Given the description of an element on the screen output the (x, y) to click on. 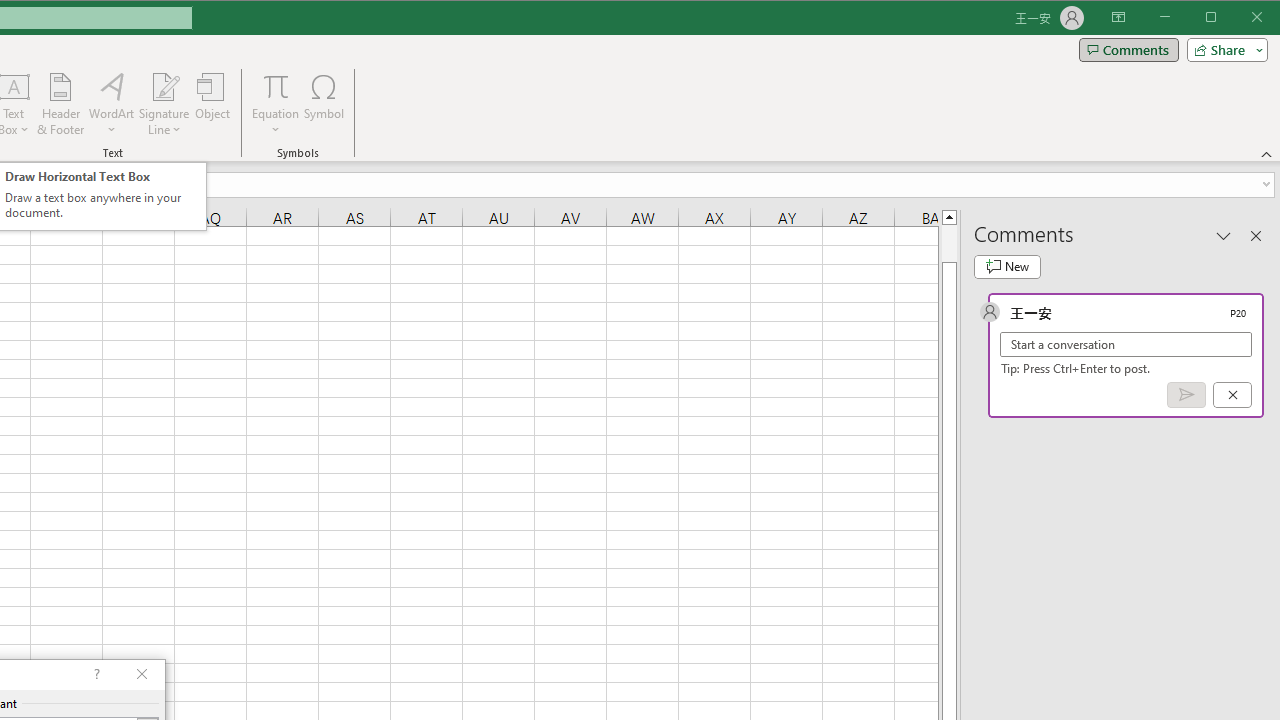
Cancel (1232, 395)
New comment (1007, 266)
Signature Line (164, 86)
Post comment (Ctrl + Enter) (1186, 395)
Equation (275, 86)
Symbol... (324, 104)
Object... (213, 104)
Signature Line (164, 104)
Maximize (1239, 18)
